Given the description of an element on the screen output the (x, y) to click on. 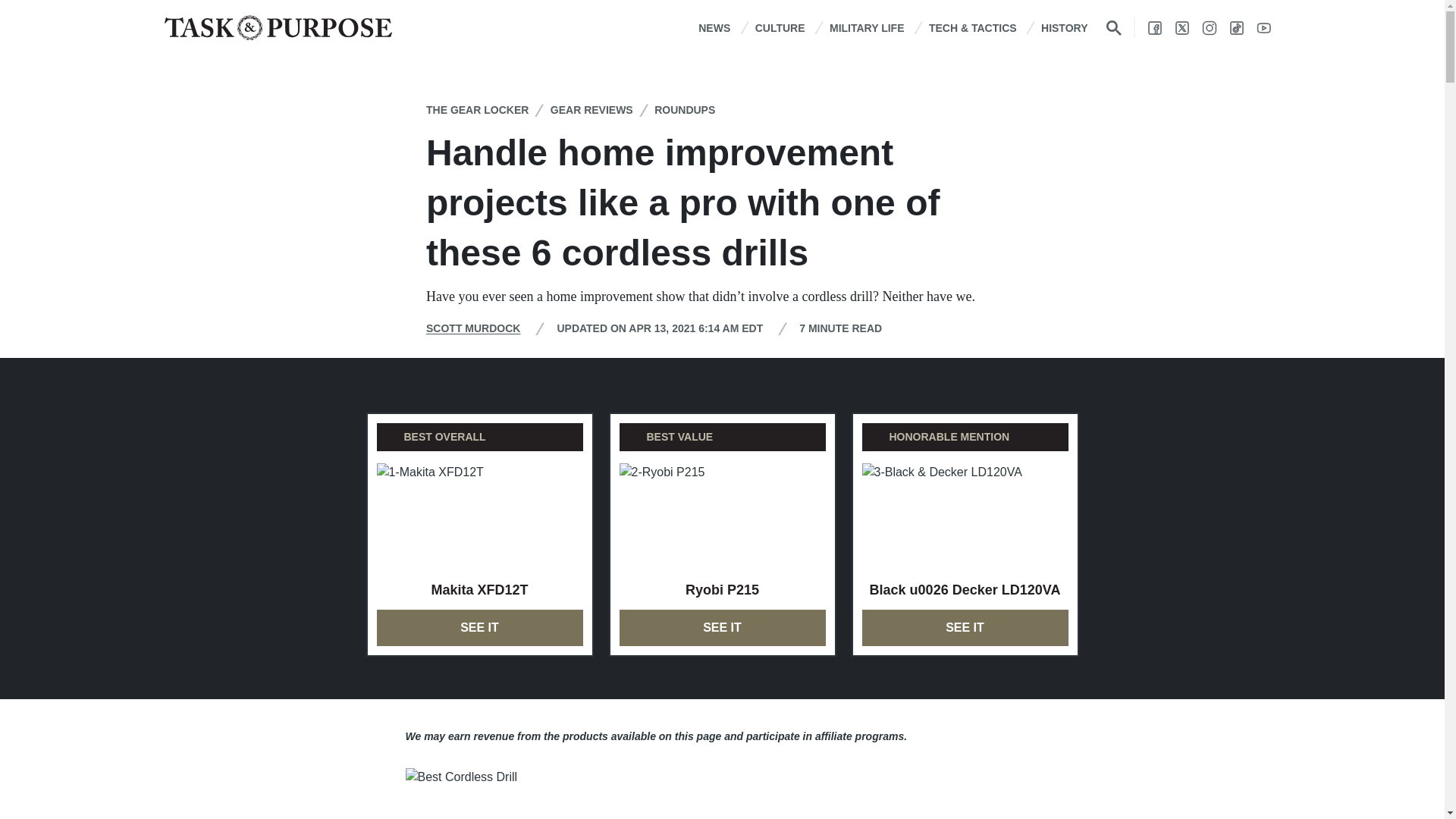
MILITARY LIFE (866, 27)
CULTURE (780, 27)
NEWS (714, 27)
